Given the description of an element on the screen output the (x, y) to click on. 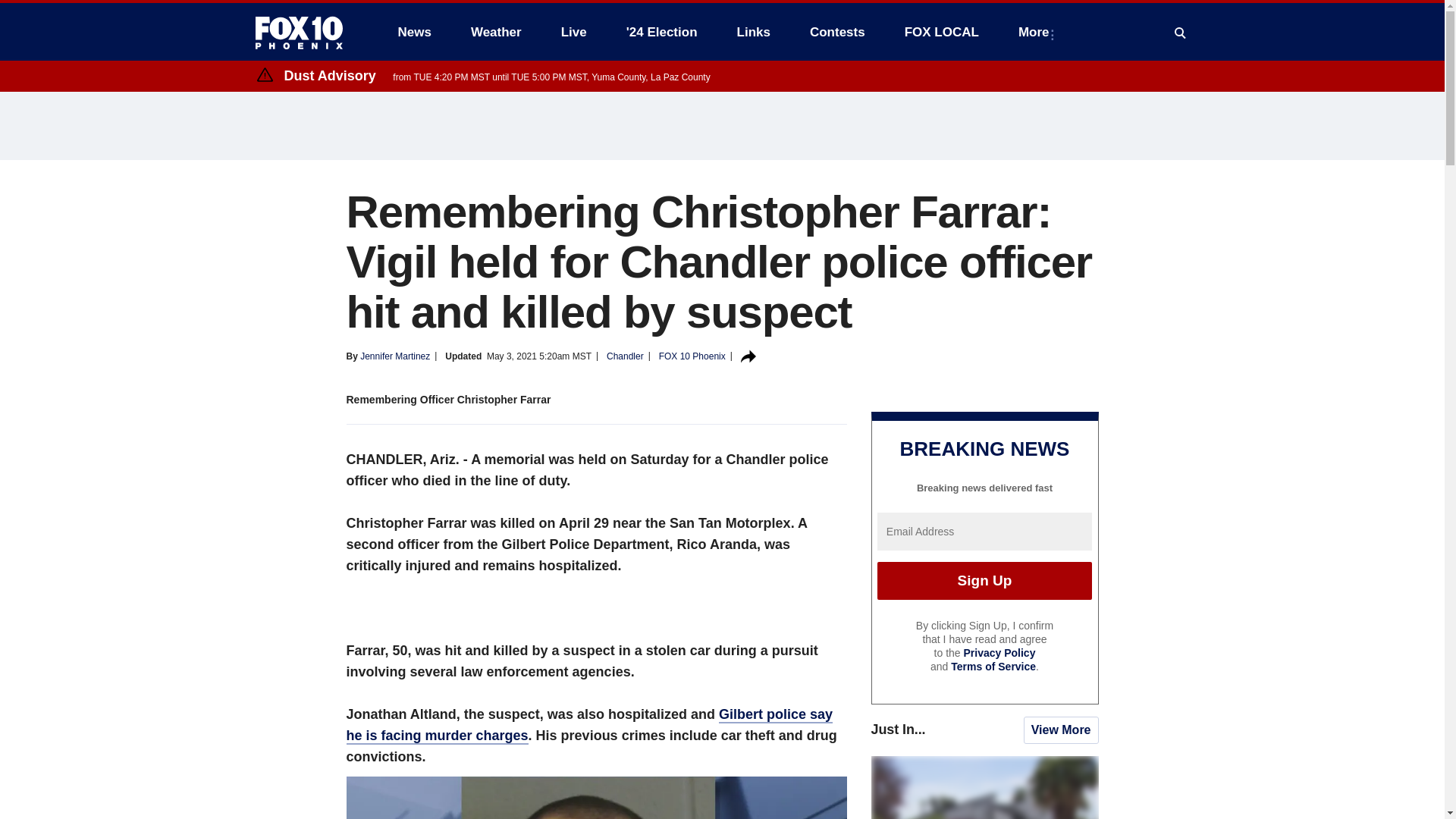
More (1036, 32)
Sign Up (984, 580)
FOX LOCAL (941, 32)
Contests (837, 32)
Weather (496, 32)
News (413, 32)
'24 Election (662, 32)
Live (573, 32)
Links (754, 32)
